Given the description of an element on the screen output the (x, y) to click on. 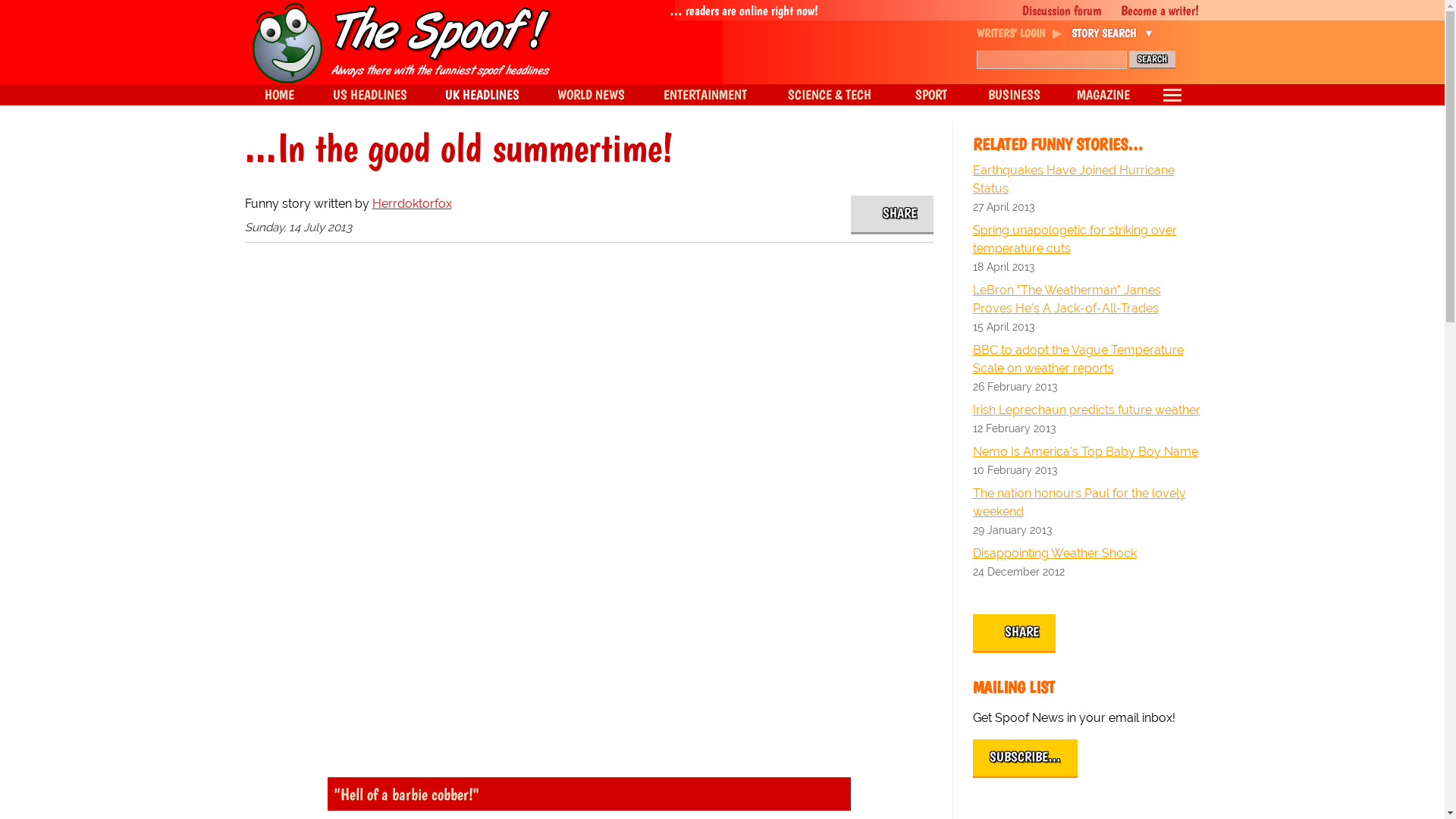
Spoof News Magazine (1102, 94)
Herrdoktorfox (411, 203)
UK HEADLINES (482, 94)
Search (1151, 59)
HOME (278, 94)
Become a writer! (1151, 10)
Spoof News Sport Headlines (930, 94)
SHARE (892, 214)
BUSINESS (1014, 94)
Earthquakes Have Joined Hurricane Status (1085, 179)
Search (1151, 59)
Spoof News World News (590, 94)
Spoof News US Headlines (370, 94)
BBC to adopt the Vague Temperature Scale on weather reports (1085, 359)
SHARE (1013, 633)
